Given the description of an element on the screen output the (x, y) to click on. 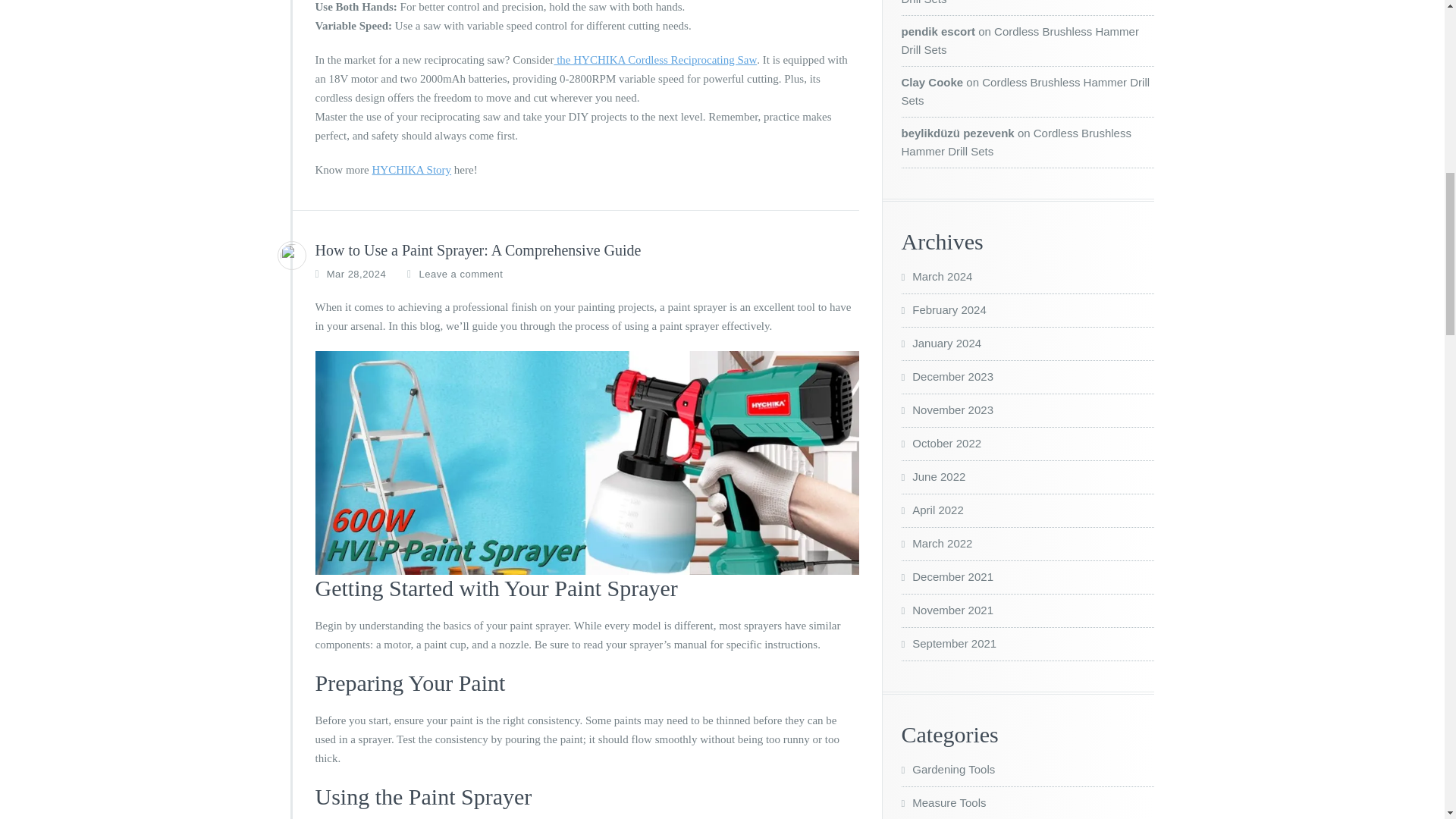
How to Use a Paint Sprayer: A Comprehensive Guide (478, 249)
HYCHIKA Story (411, 169)
the HYCHIKA Cordless Reciprocating Saw (655, 60)
Leave a comment (461, 273)
Mar 28,2024 (356, 273)
